Given the description of an element on the screen output the (x, y) to click on. 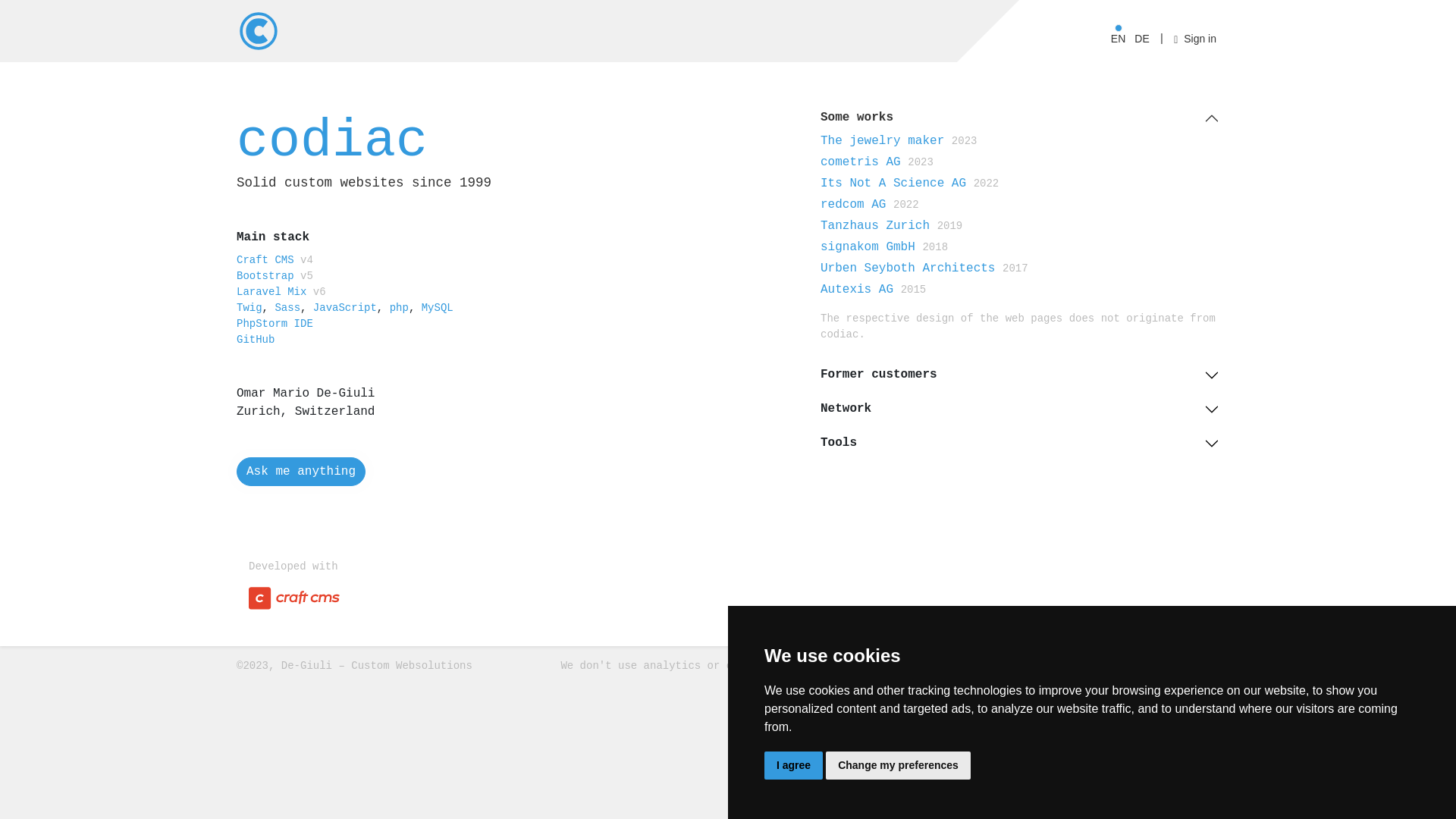
Network Element type: text (1019, 406)
Its Not A Science AG Element type: text (893, 183)
Tools Element type: text (1019, 440)
MySQL Element type: text (437, 307)
cometris AG Element type: text (860, 162)
Tanzhaus Zurich Element type: text (874, 225)
DE Element type: text (1141, 36)
GitHub Element type: text (255, 339)
Laravel Mix Element type: text (271, 291)
Autexis AG Element type: text (856, 289)
Bootstrap Element type: text (265, 275)
I agree Element type: text (793, 765)
php Element type: text (398, 307)
PhpStorm IDE Element type: text (274, 323)
signakom GmbH Element type: text (867, 247)
Change my preferences Element type: text (897, 765)
Ask me anything Element type: text (300, 471)
Some works Element type: text (1019, 114)
Craft CMS Element type: text (265, 260)
Former customers Element type: text (1019, 372)
Sign in Element type: text (1194, 36)
Legal notice Element type: text (1180, 665)
redcom AG Element type: text (852, 204)
JavaScript Element type: text (344, 307)
Privacy Policy Element type: text (1086, 665)
EN
Active language Element type: text (1117, 36)
The jewelry maker Element type: text (882, 140)
Sass Element type: text (287, 307)
Twig Element type: text (249, 307)
Urben Seyboth Architects Element type: text (907, 268)
